Given the description of an element on the screen output the (x, y) to click on. 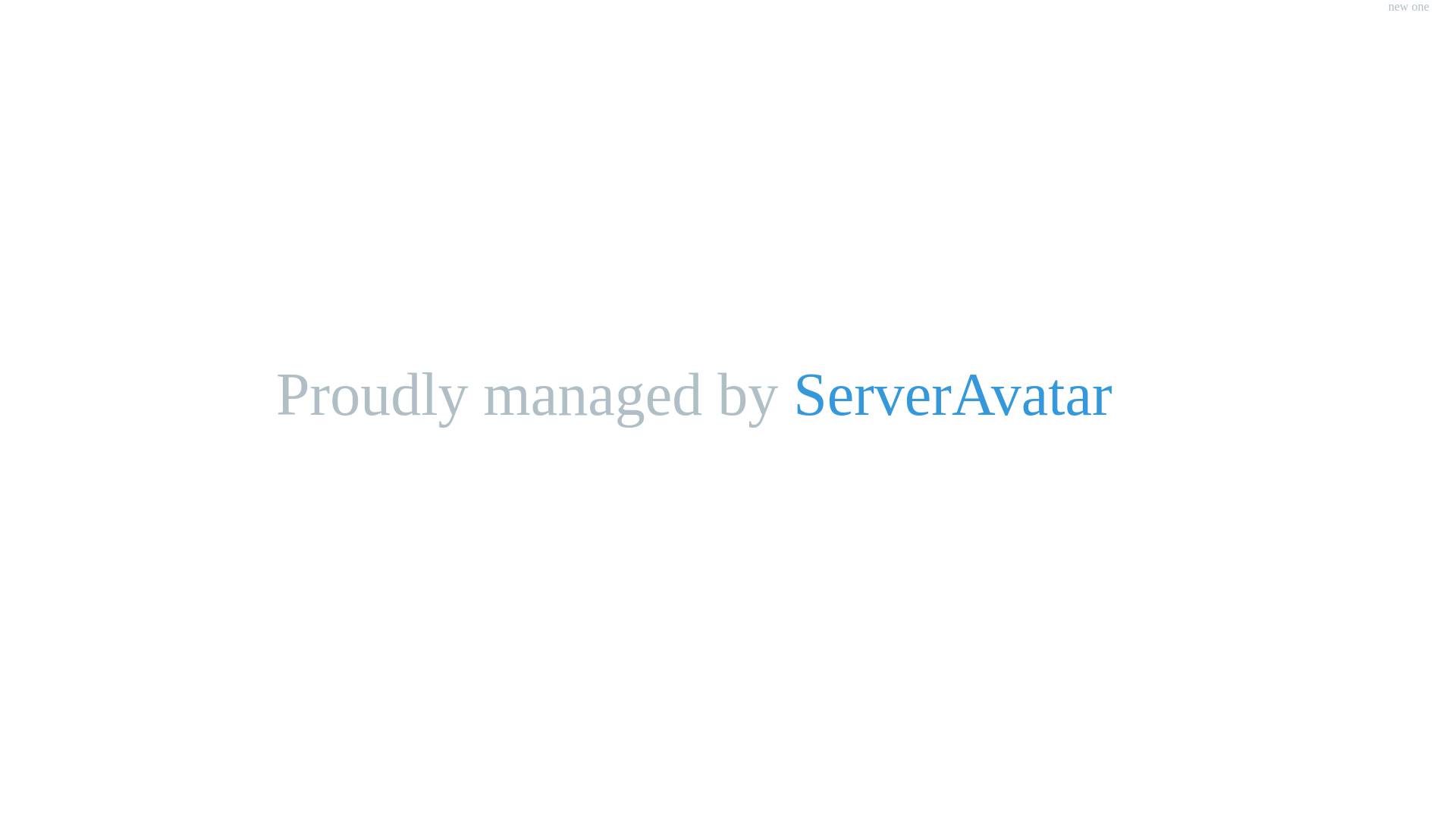
ServerAvatar Element type: text (952, 393)
